Given the description of an element on the screen output the (x, y) to click on. 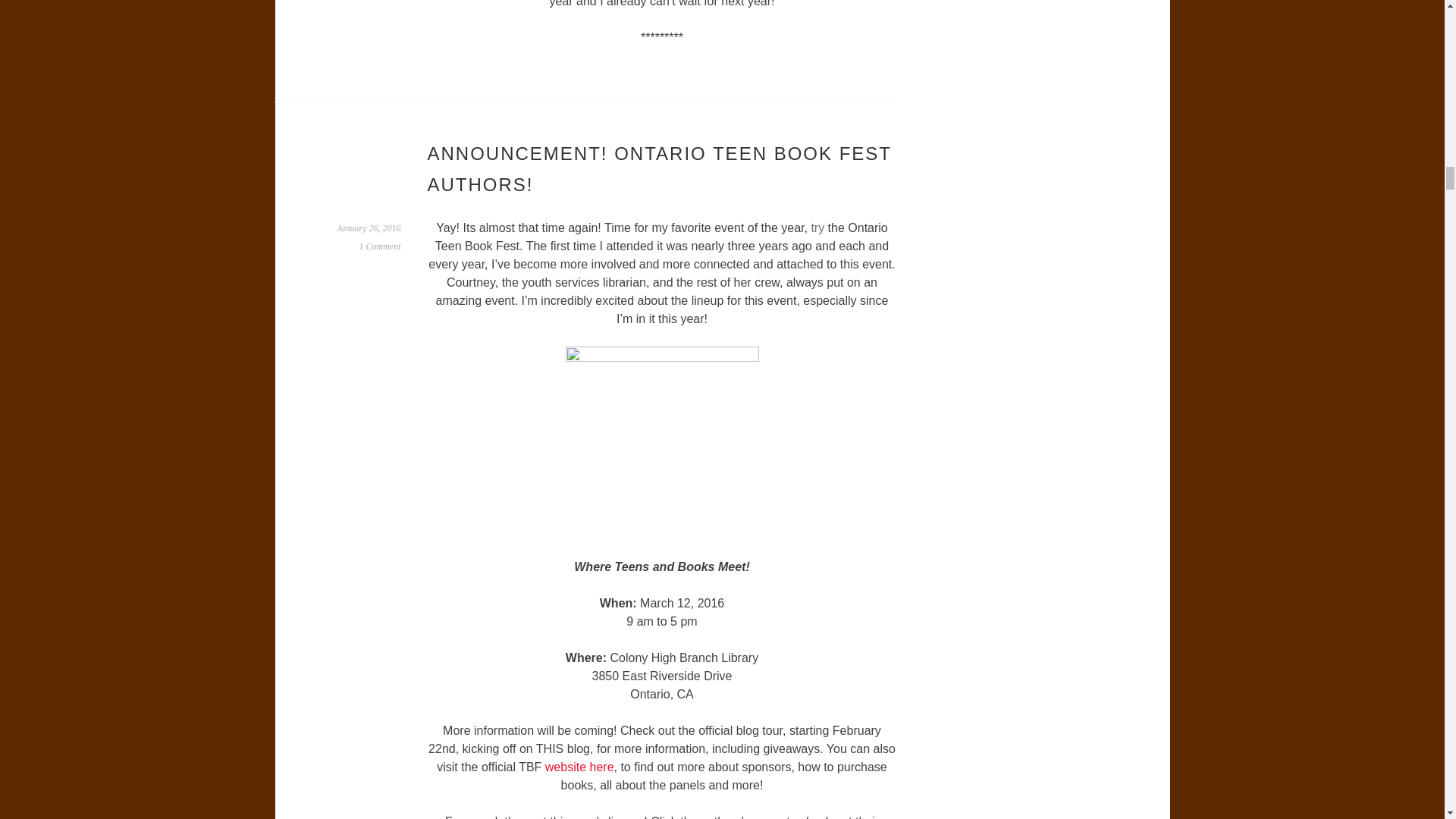
1 Comment (380, 245)
try (817, 227)
January 26, 2016 (368, 227)
ANNOUNCEMENT! ONTARIO TEEN BOOK FEST AUTHORS! (659, 168)
Permalink to Announcement! Ontario Teen Book Fest Authors! (368, 227)
